Given the description of an element on the screen output the (x, y) to click on. 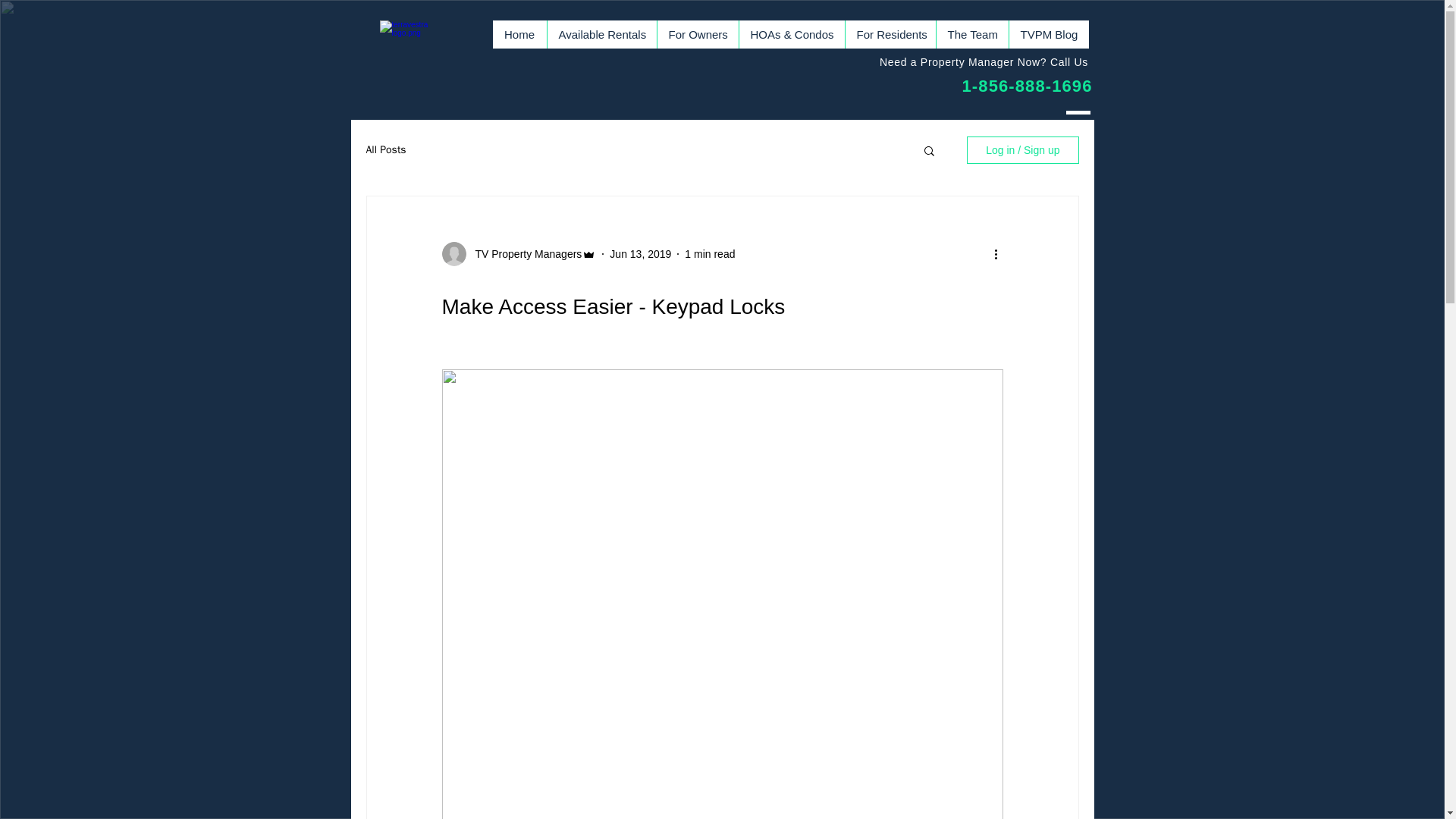
For Residents (890, 34)
The Team (972, 34)
Jun 13, 2019 (640, 253)
For Owners (697, 34)
All Posts (385, 150)
Available Rentals (601, 34)
Home (520, 34)
1 min read (709, 253)
TVPM Blog (1049, 34)
TV Property Managers (522, 253)
